Given the description of an element on the screen output the (x, y) to click on. 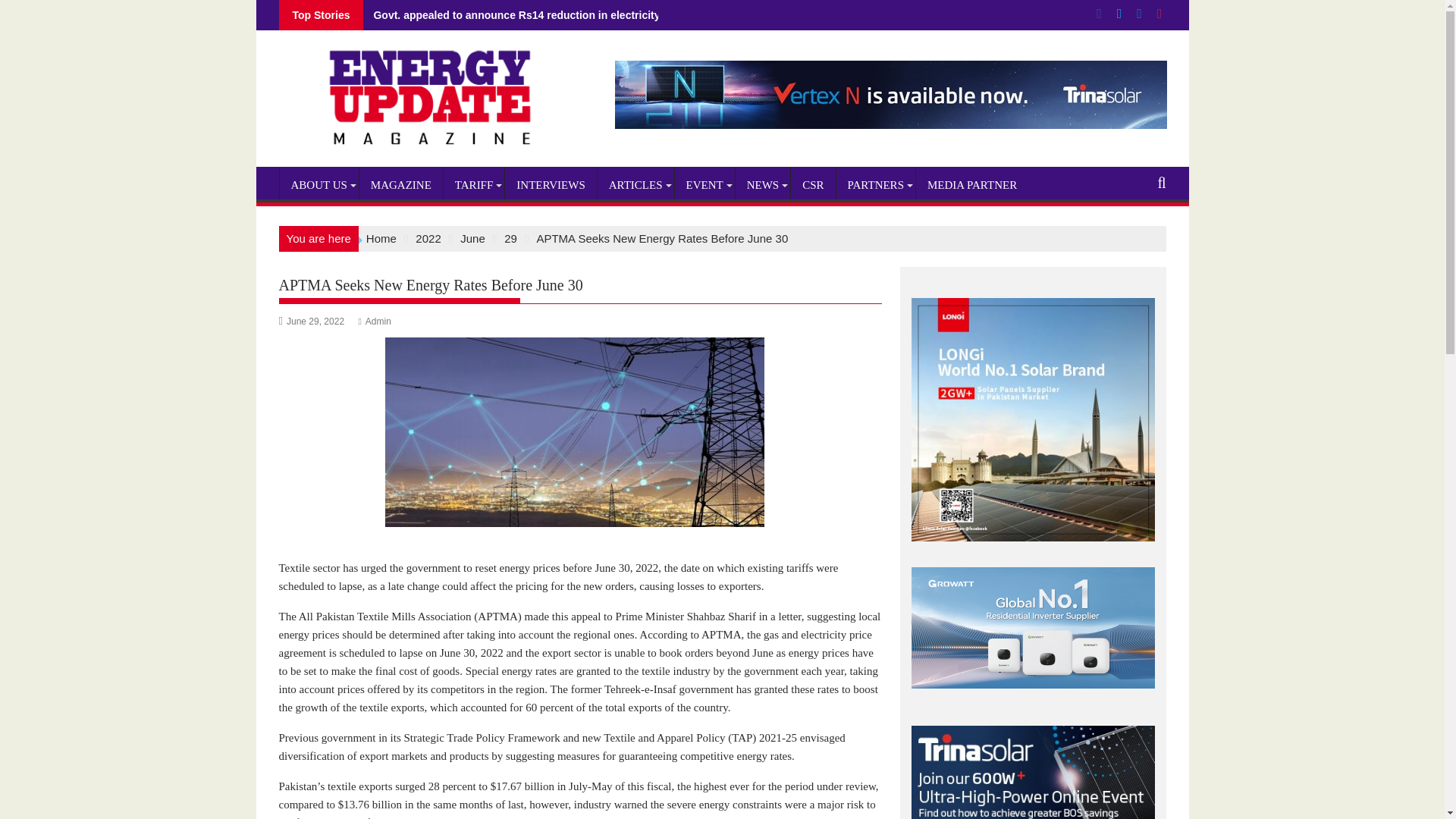
MAGAZINE (400, 185)
ARTICLES (635, 185)
TARIFF (473, 185)
EVENT (705, 185)
NEWS (762, 185)
INTERVIEWS (550, 185)
ABOUT US (318, 185)
CSR (812, 185)
PARTNERS (875, 185)
